Given the description of an element on the screen output the (x, y) to click on. 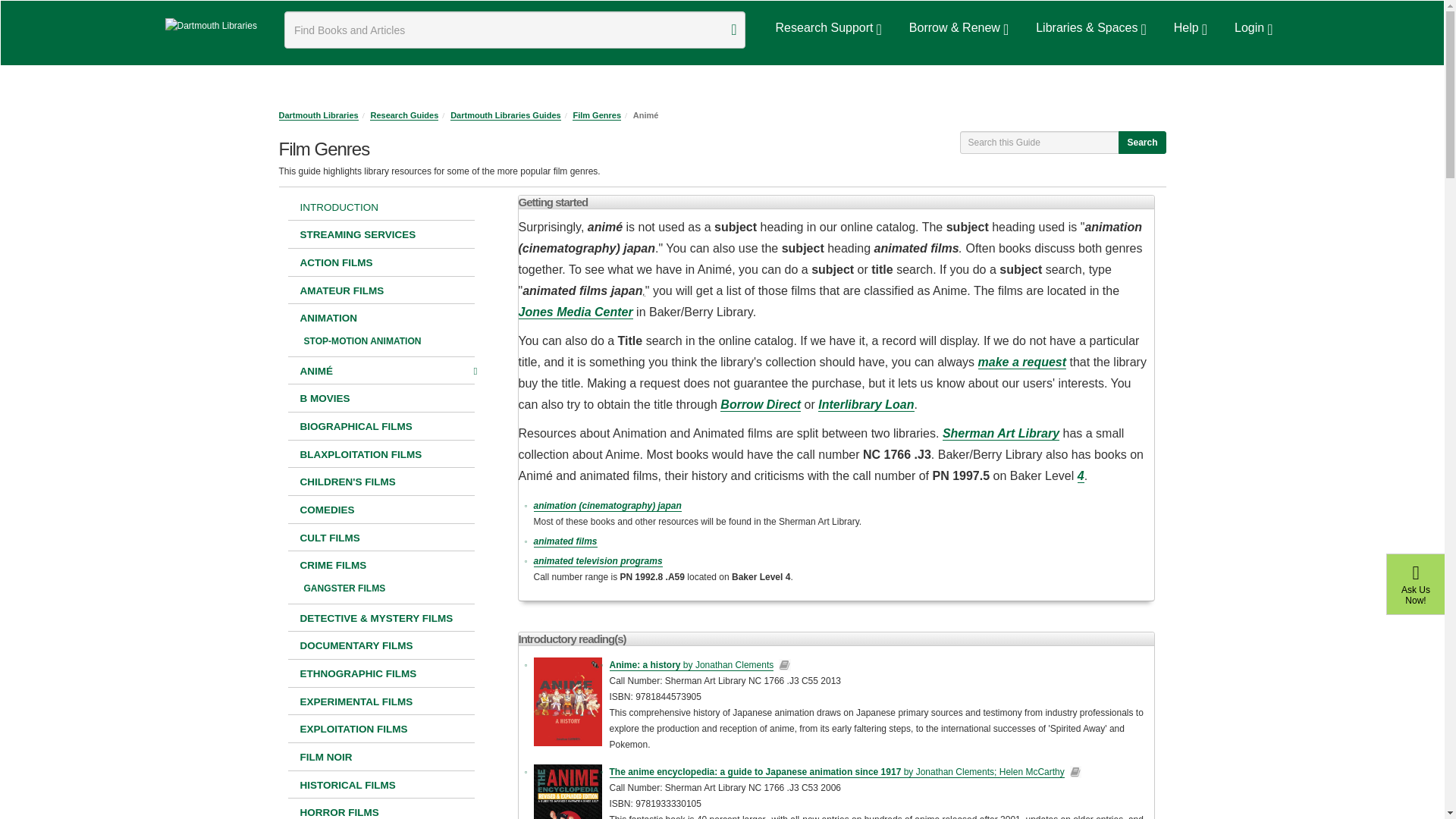
Search (733, 29)
New page (388, 587)
Dartmouth Libraries (211, 26)
New page (381, 482)
Research Support (824, 28)
